Given the description of an element on the screen output the (x, y) to click on. 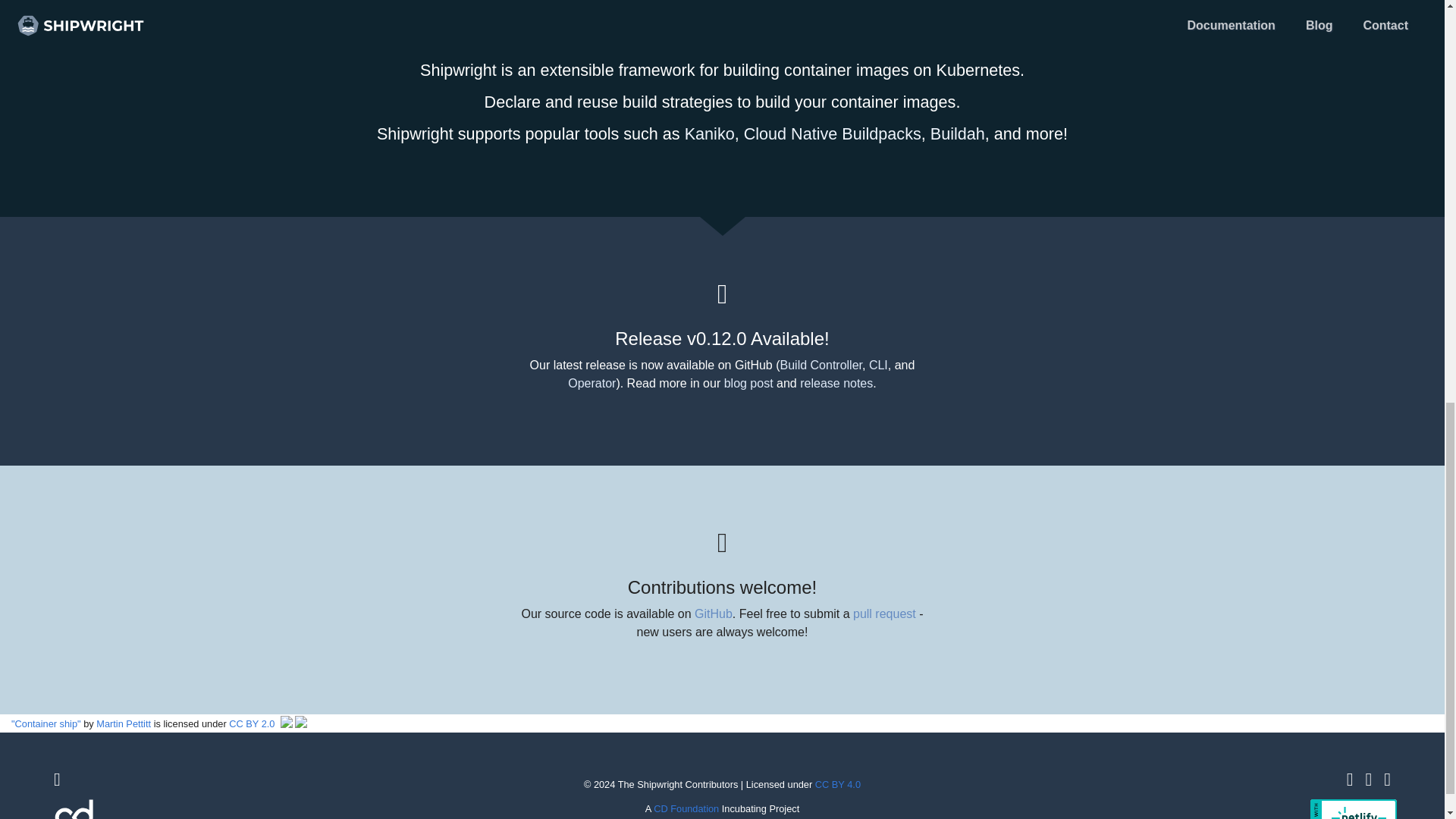
pull request (884, 613)
Developer mailing list (1387, 780)
"Container ship" (46, 723)
Kaniko (709, 133)
CD Foundation (686, 808)
CC BY 4.0 (837, 784)
Cloud Native Buildpacks (832, 133)
Build Controller (819, 364)
GitHub (1350, 780)
User mailing list (57, 780)
release notes (835, 382)
CC BY 2.0 (251, 723)
Martin Pettitt (123, 723)
CLI (878, 364)
Buildah (957, 133)
